Given the description of an element on the screen output the (x, y) to click on. 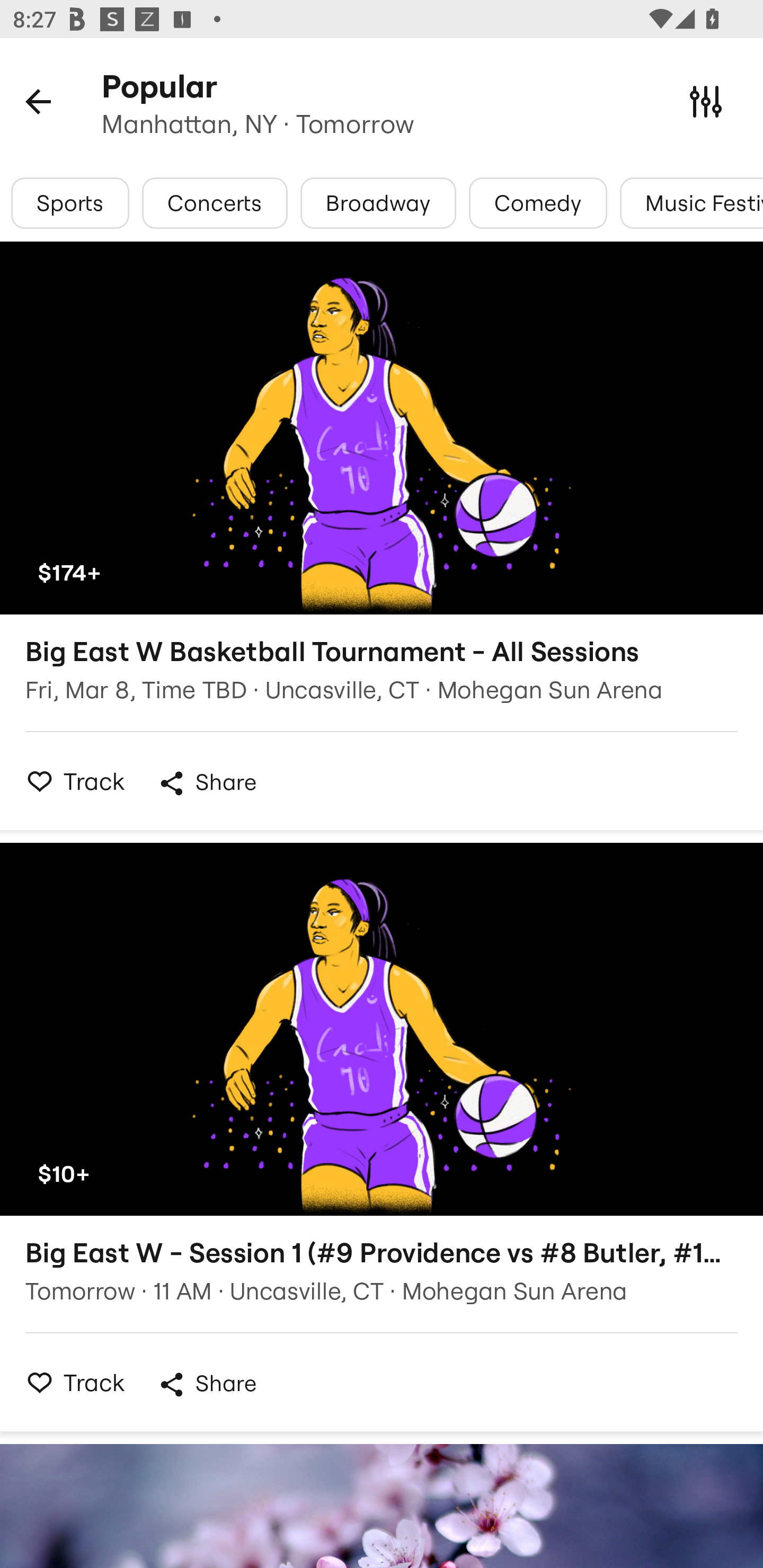
Back (38, 100)
Close (705, 100)
Sports (69, 202)
Concerts (214, 202)
Broadway (378, 202)
Comedy (538, 202)
Music Festivals (691, 202)
Track (70, 780)
Share (207, 783)
Track (70, 1381)
Share (207, 1384)
